Given the description of an element on the screen output the (x, y) to click on. 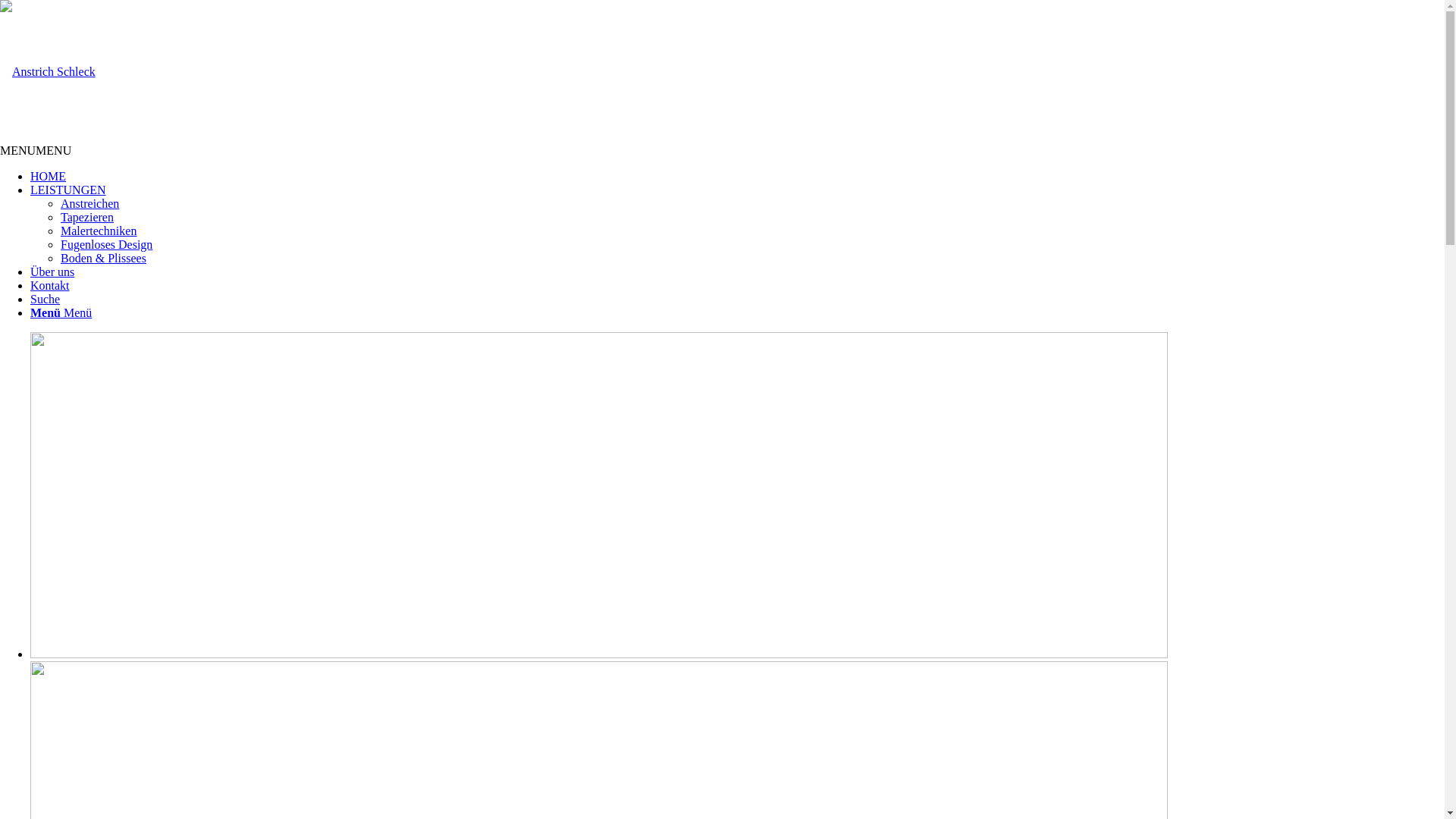
Malertechniken Element type: text (98, 230)
LEISTUNGEN Element type: text (68, 189)
Fugenloses Design Element type: text (106, 244)
HOME Element type: text (47, 175)
Boden & Plissees Element type: text (103, 257)
Tapezieren Element type: text (86, 216)
Suche Element type: text (44, 298)
Anstreichen Element type: text (89, 203)
Kontakt Element type: text (49, 285)
